Given the description of an element on the screen output the (x, y) to click on. 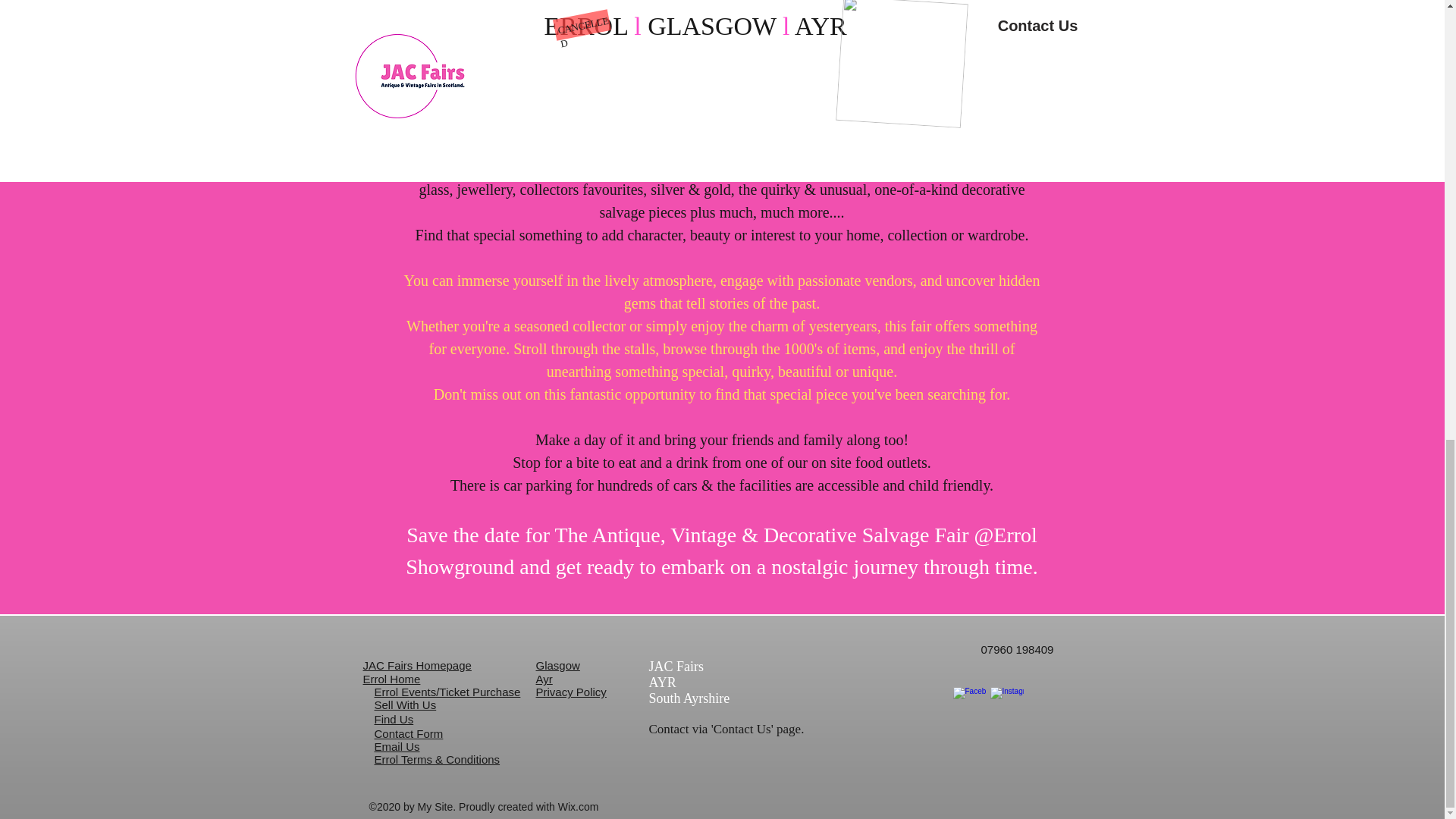
Ayr (543, 678)
Sell With Us (405, 704)
Find Us (393, 718)
Glasgow (557, 665)
JAC Fairs Homepage (416, 665)
Privacy Policy (570, 691)
Contact Form (409, 733)
Email Us (397, 746)
Errol Home (391, 678)
